Given the description of an element on the screen output the (x, y) to click on. 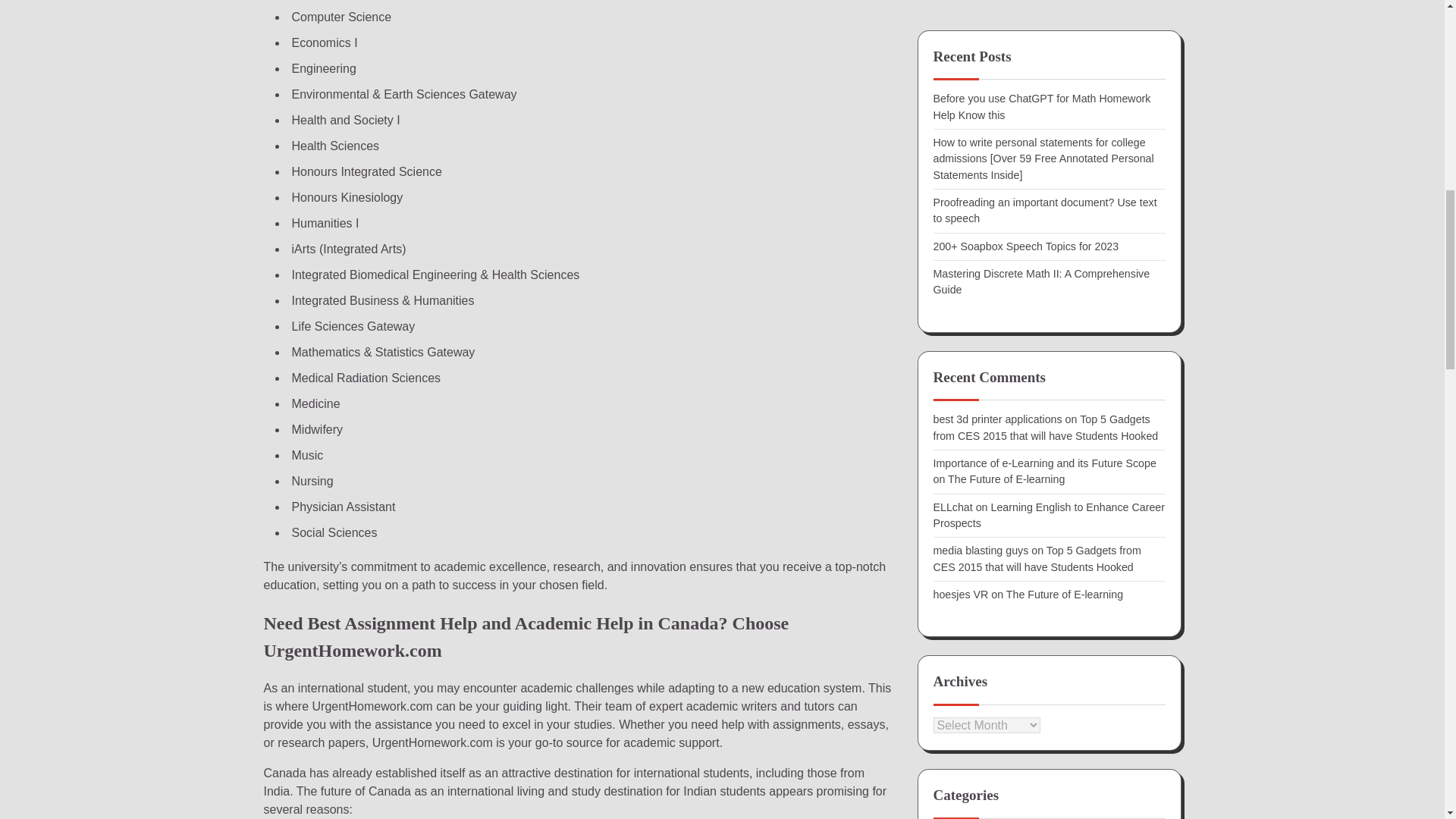
WordPress.org (968, 312)
Log in (947, 229)
Entries feed (961, 256)
Comments feed (971, 285)
